Given the description of an element on the screen output the (x, y) to click on. 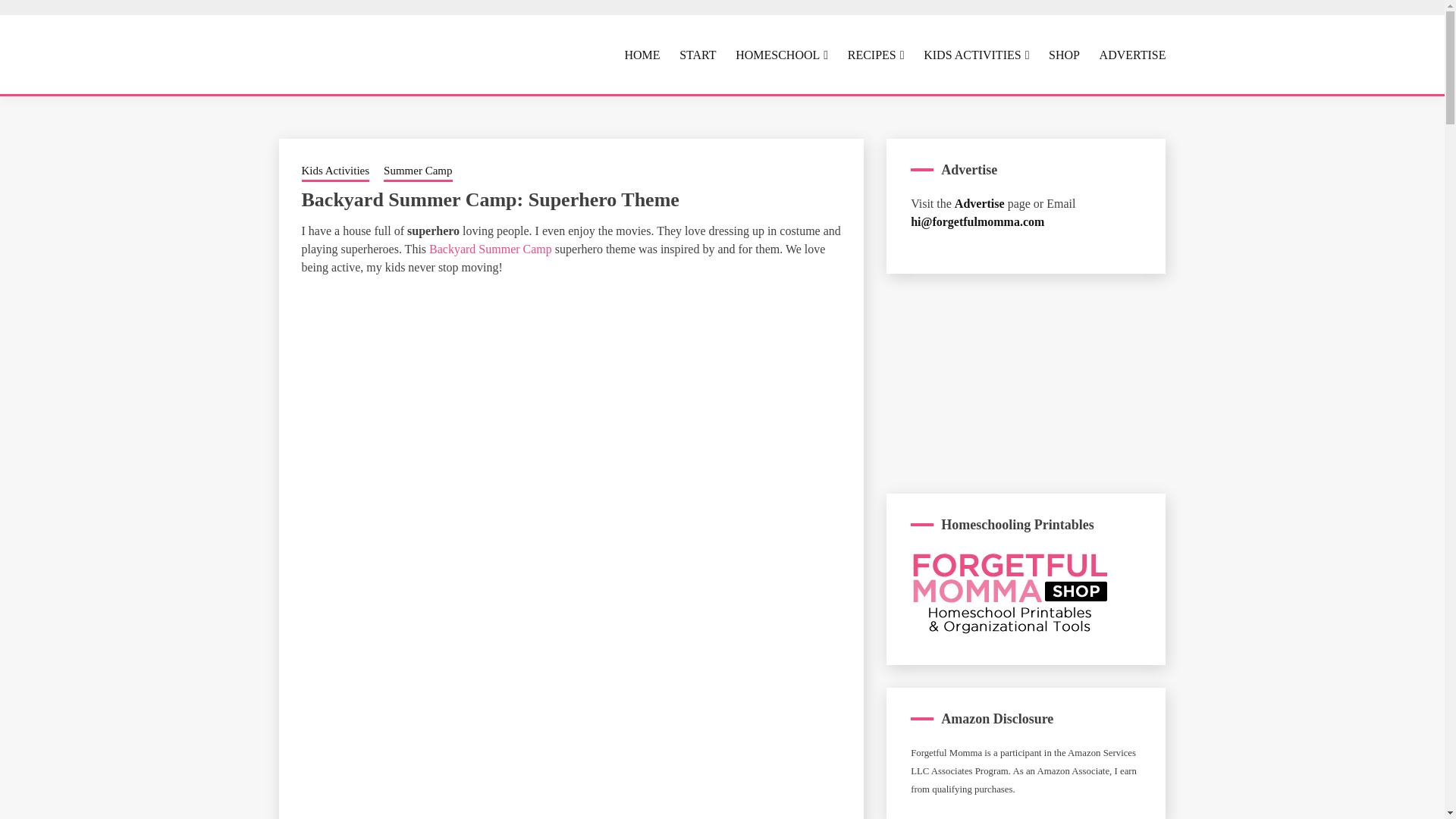
HOME (641, 54)
ADVERTISE (1132, 54)
KIDS ACTIVITIES (976, 54)
FORGETFUL MOMMA (521, 106)
RECIPES (875, 54)
Summer Camp (417, 171)
SHOP (1064, 54)
Kids Activities (335, 171)
HOMESCHOOL (781, 54)
Backyard Summer Camp (491, 248)
